Given the description of an element on the screen output the (x, y) to click on. 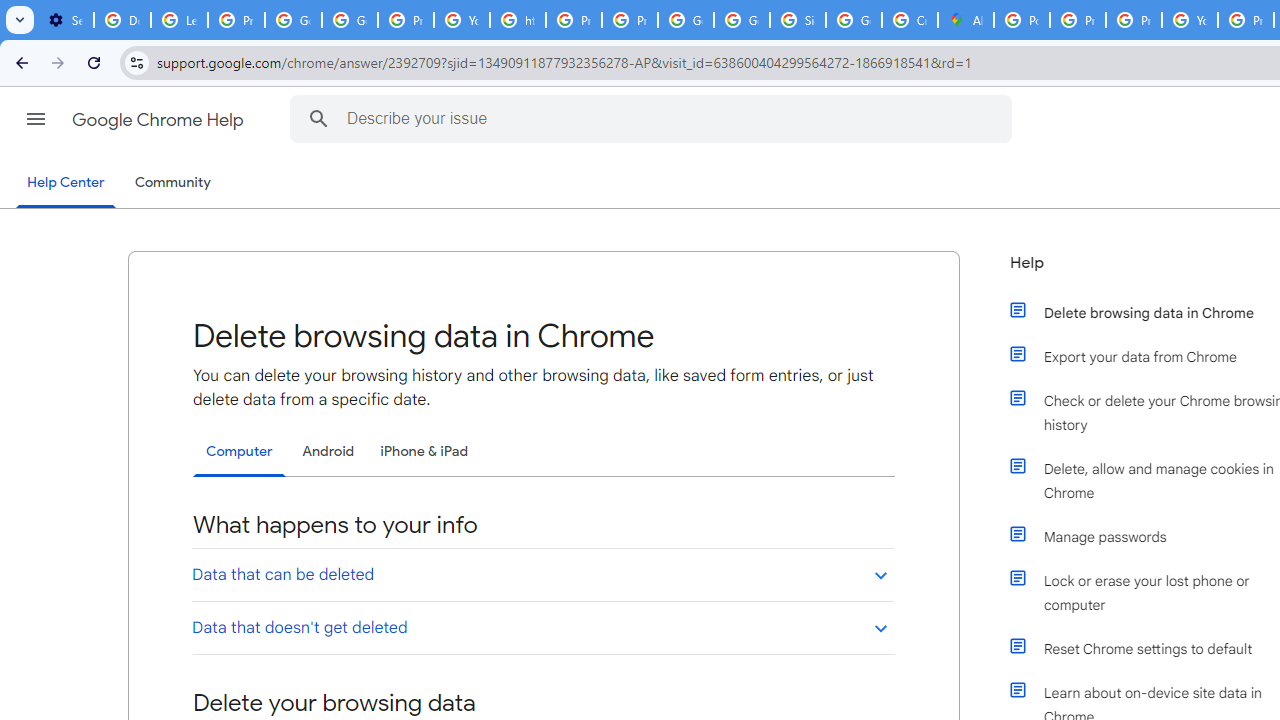
YouTube (461, 20)
Data that can be deleted (542, 574)
Create your Google Account (909, 20)
Google Chrome Help (159, 119)
Privacy Help Center - Policies Help (573, 20)
Settings - On startup (65, 20)
iPhone & iPad (424, 451)
Google Account Help (293, 20)
